Given the description of an element on the screen output the (x, y) to click on. 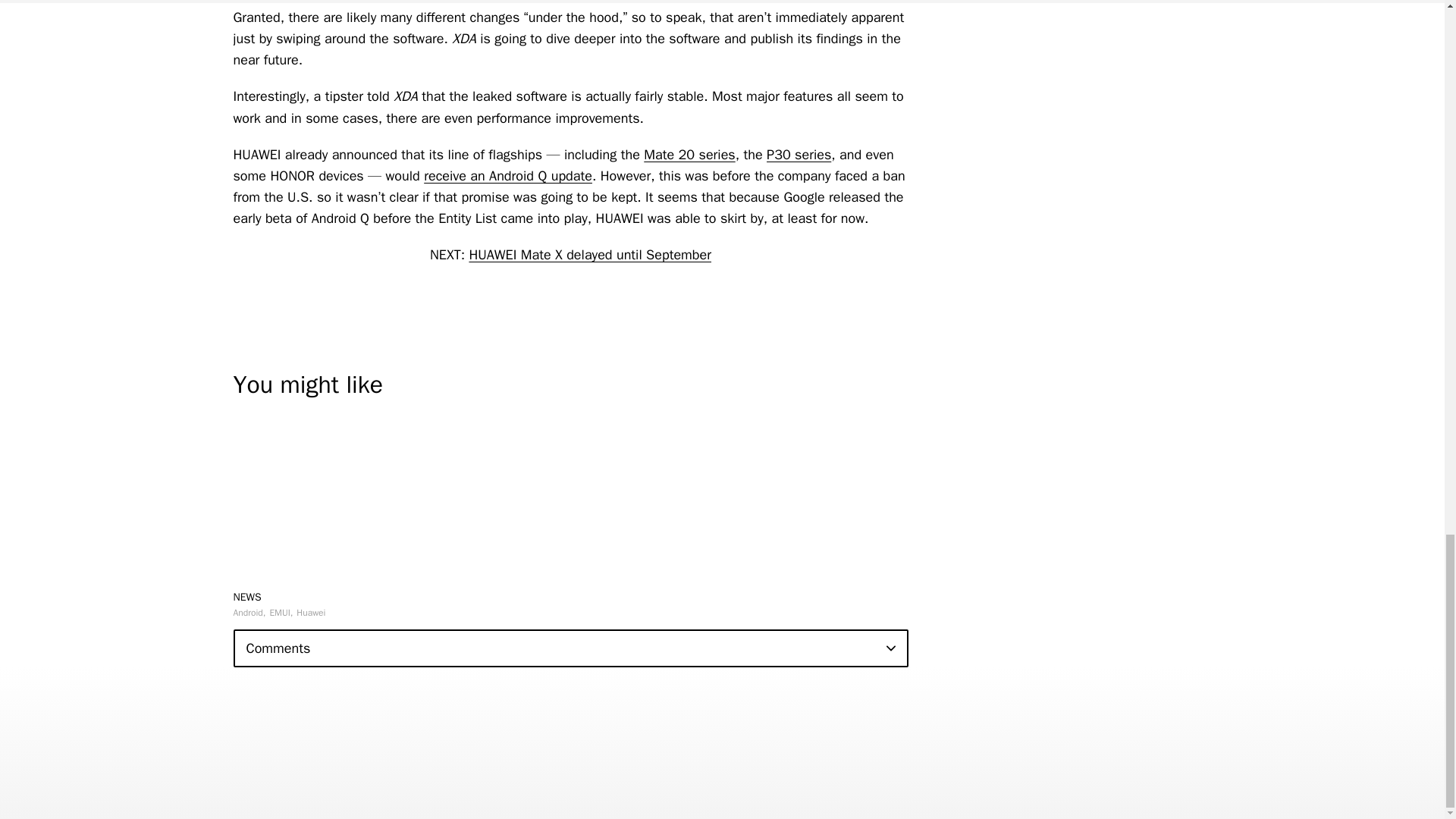
Huawei (310, 612)
HUAWEI Mate X delayed until September (589, 254)
receive an Android Q update (507, 175)
Mate 20 series (689, 154)
P30 series (799, 154)
NEWS (247, 596)
Comments (570, 648)
Android (249, 612)
EMUI (280, 612)
